Given the description of an element on the screen output the (x, y) to click on. 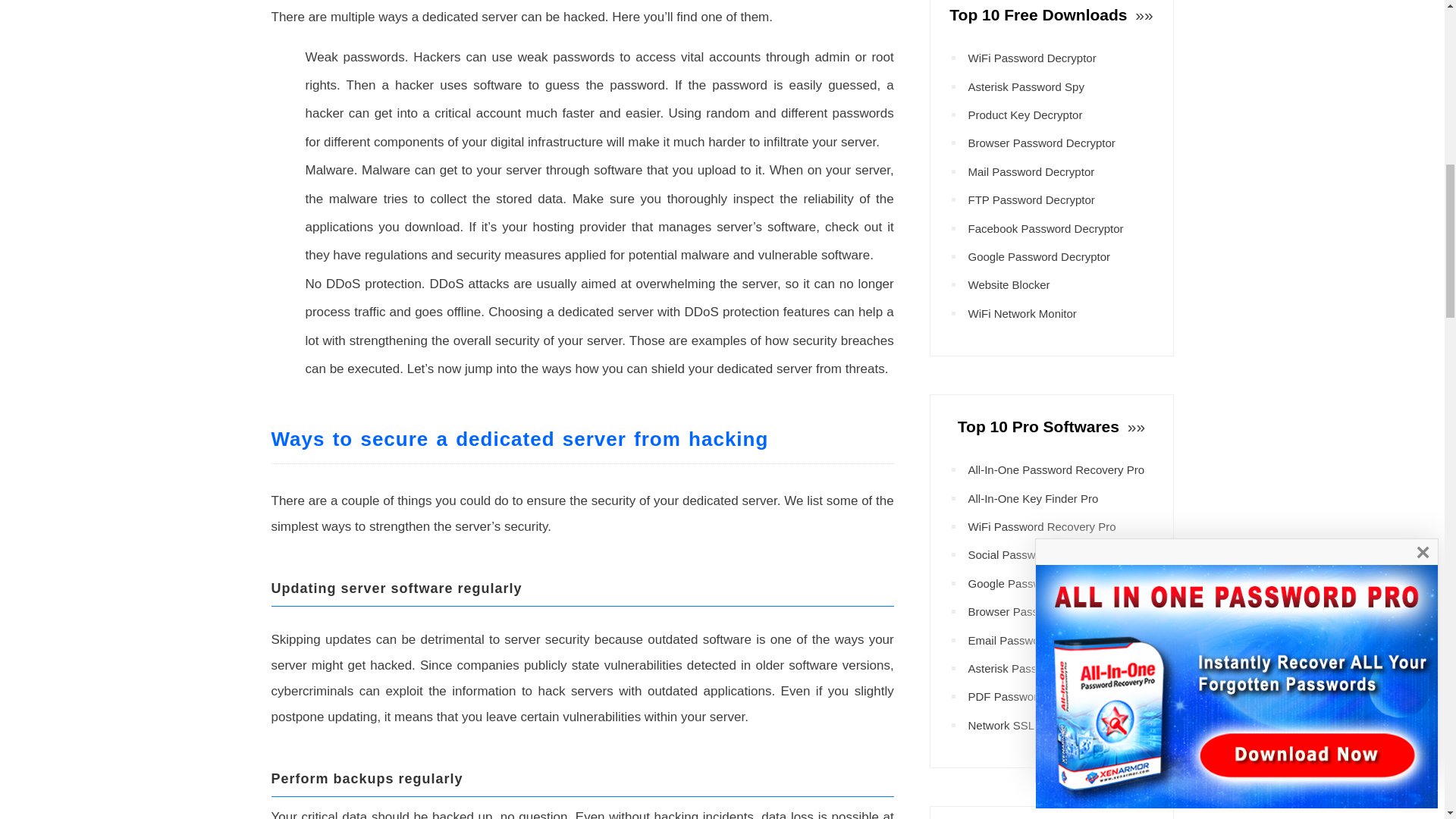
See More... (1134, 425)
See More... (1142, 14)
